Given the description of an element on the screen output the (x, y) to click on. 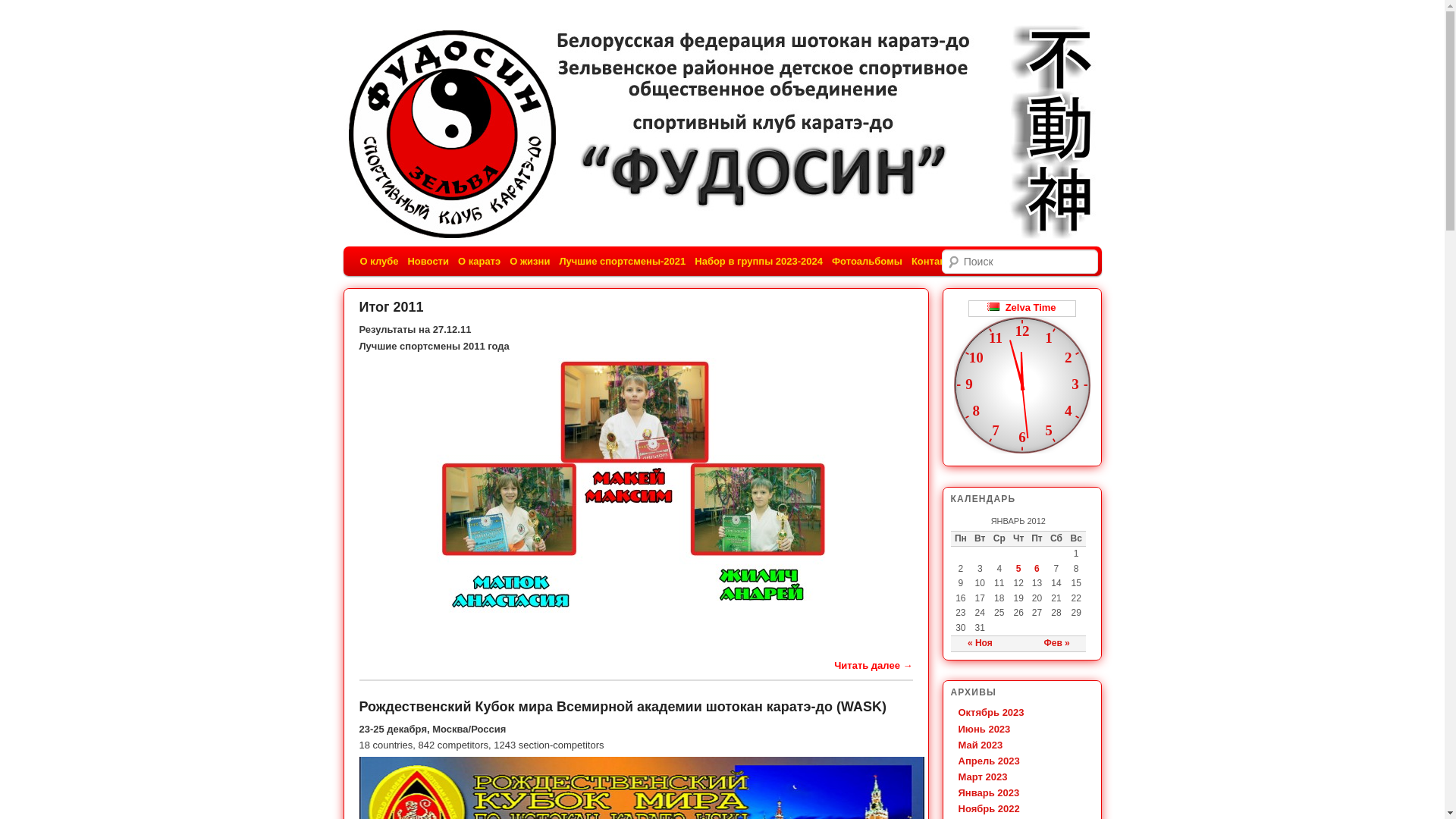
vest_11 Element type: hover (635, 491)
6 Element type: text (1036, 568)
  Zelva Time Element type: text (1021, 307)
5 Element type: text (1018, 568)
